Given the description of an element on the screen output the (x, y) to click on. 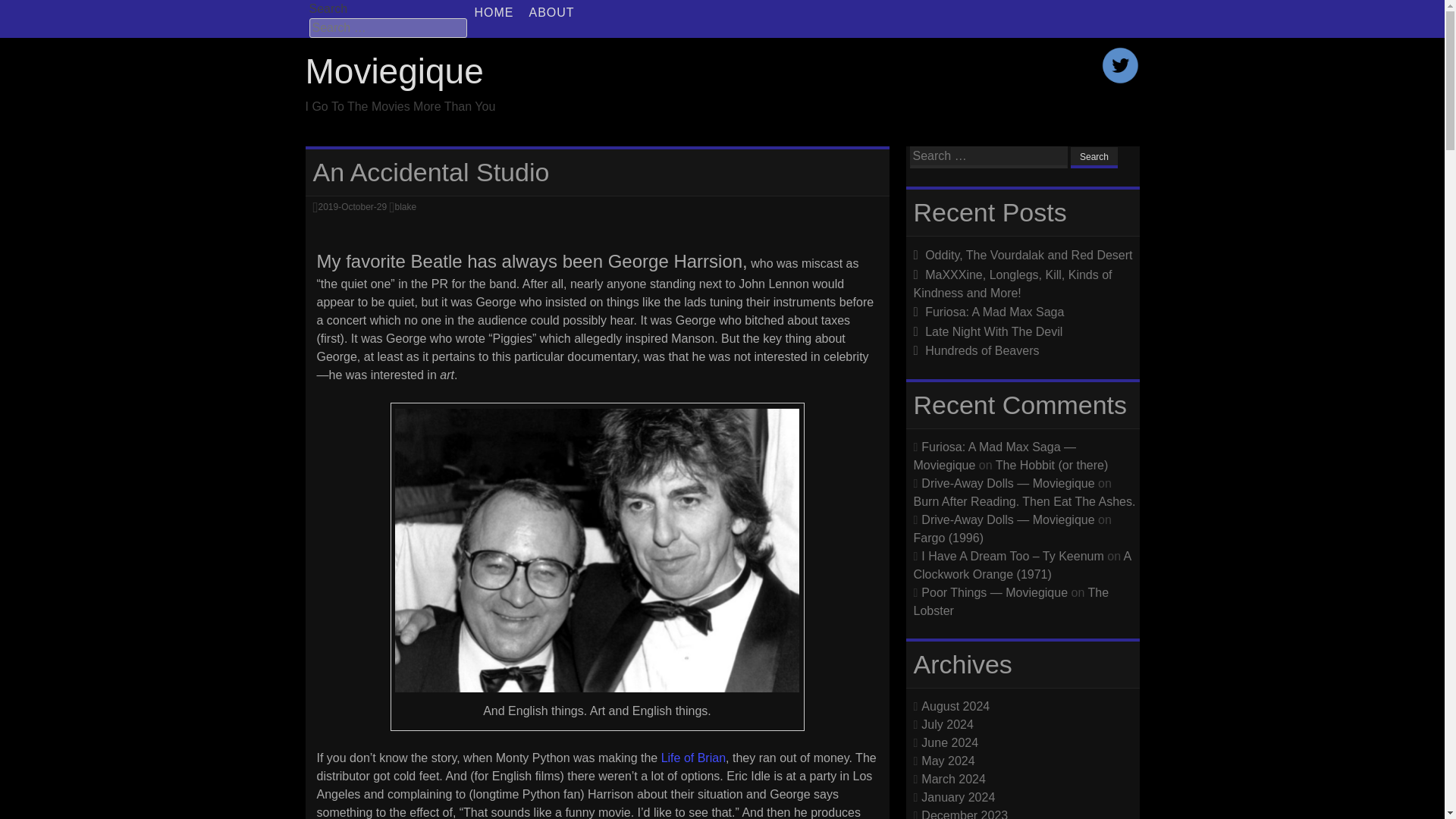
Oddity, The Vourdalak and Red Desert (1028, 254)
Hundreds of Beavers (981, 350)
Search for: (387, 27)
The Lobster (1010, 600)
1:47 pm (352, 206)
June 2024 (949, 741)
August 2024 (955, 705)
January 2024 (957, 796)
View all posts by blake (405, 206)
Moviegique (393, 70)
